Given the description of an element on the screen output the (x, y) to click on. 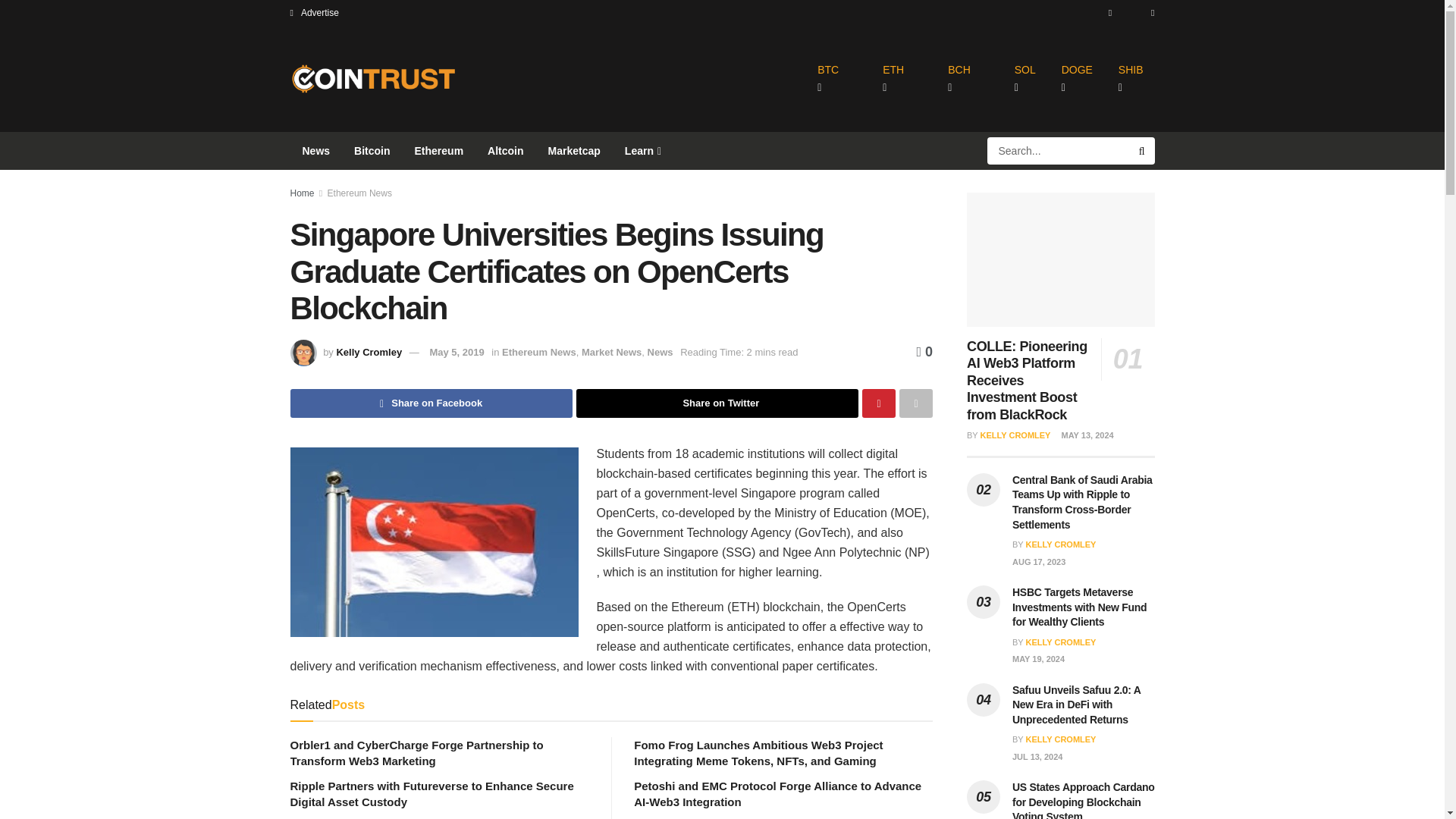
Altcoin (505, 150)
Bitcoin (371, 150)
Ethereum (439, 150)
News (315, 150)
Learn (641, 150)
Advertise (313, 12)
DOGE (1077, 79)
Marketcap (573, 150)
